Given the description of an element on the screen output the (x, y) to click on. 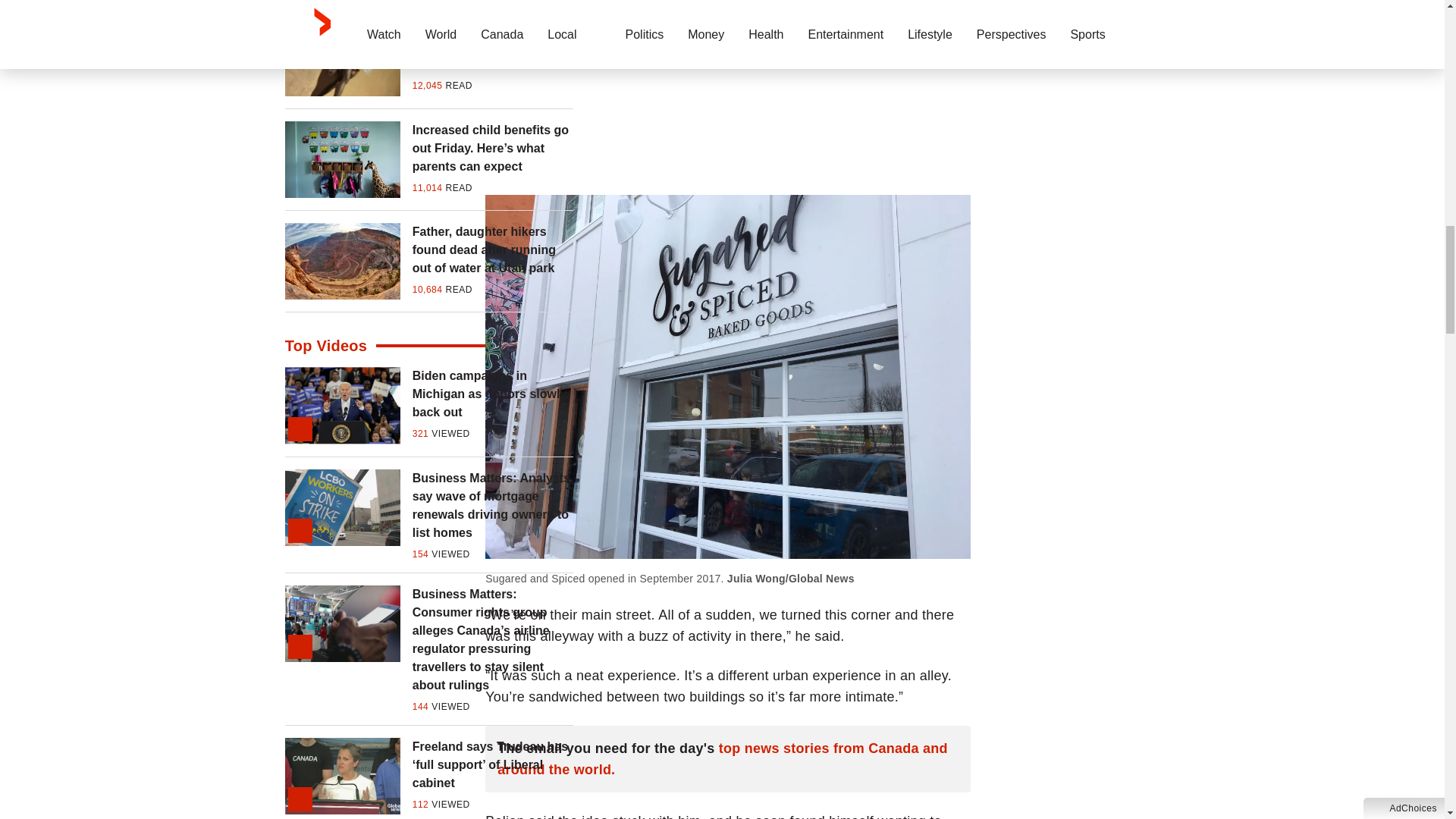
Biden campaigns in Michigan as donors slowly back out (492, 393)
3rd party ad content (727, 85)
